Given the description of an element on the screen output the (x, y) to click on. 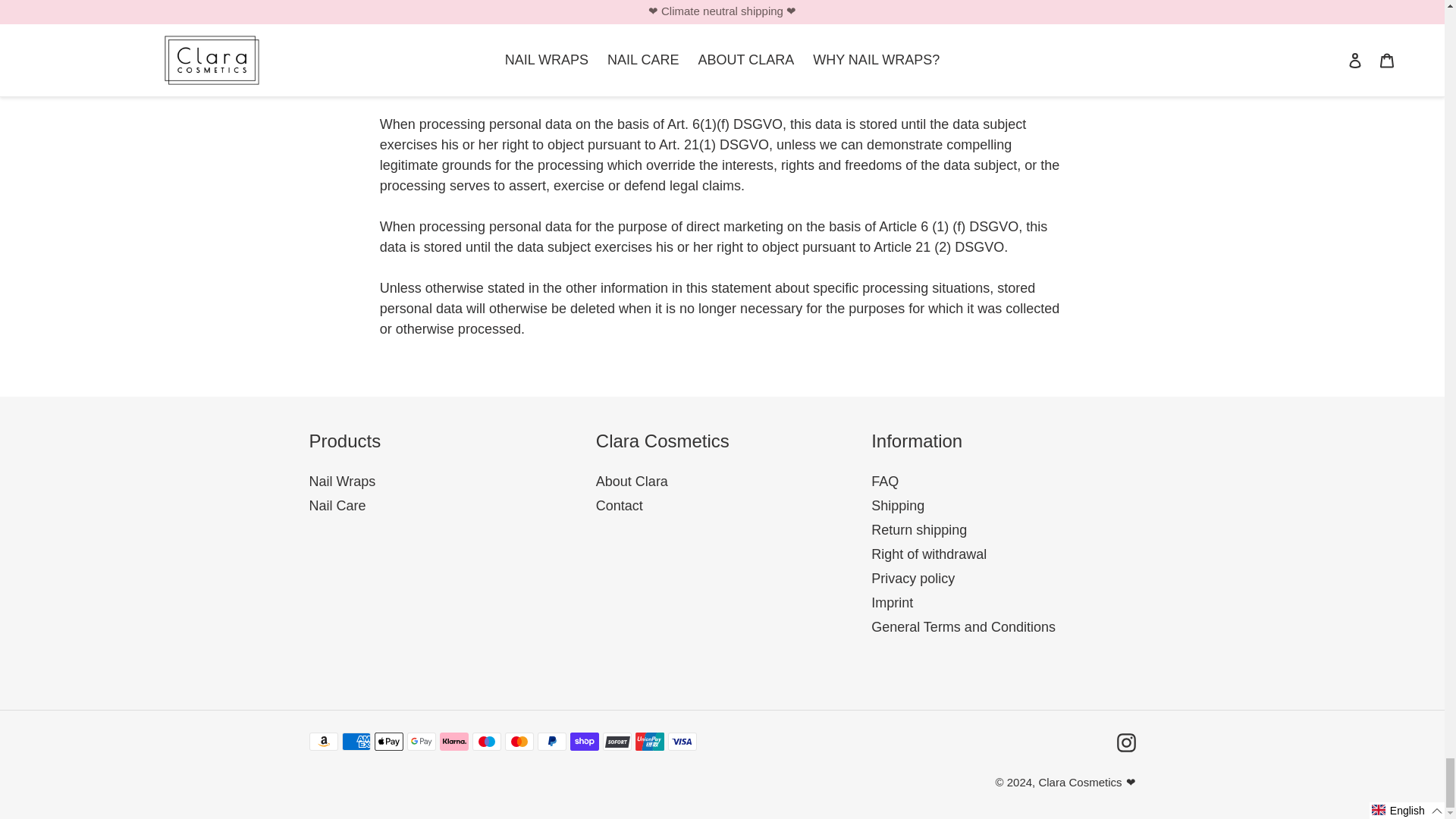
Contact (619, 505)
Return shipping (918, 529)
Right of withdrawal (928, 554)
Imprint (891, 602)
Union Pay (648, 741)
Amazon (322, 741)
Shop Pay (584, 741)
PayPal (551, 741)
Instagram (1125, 742)
Google Pay (420, 741)
Visa (680, 741)
Clara Cosmetics (1079, 781)
Mastercard (519, 741)
Klarna (453, 741)
Privacy policy (912, 578)
